Given the description of an element on the screen output the (x, y) to click on. 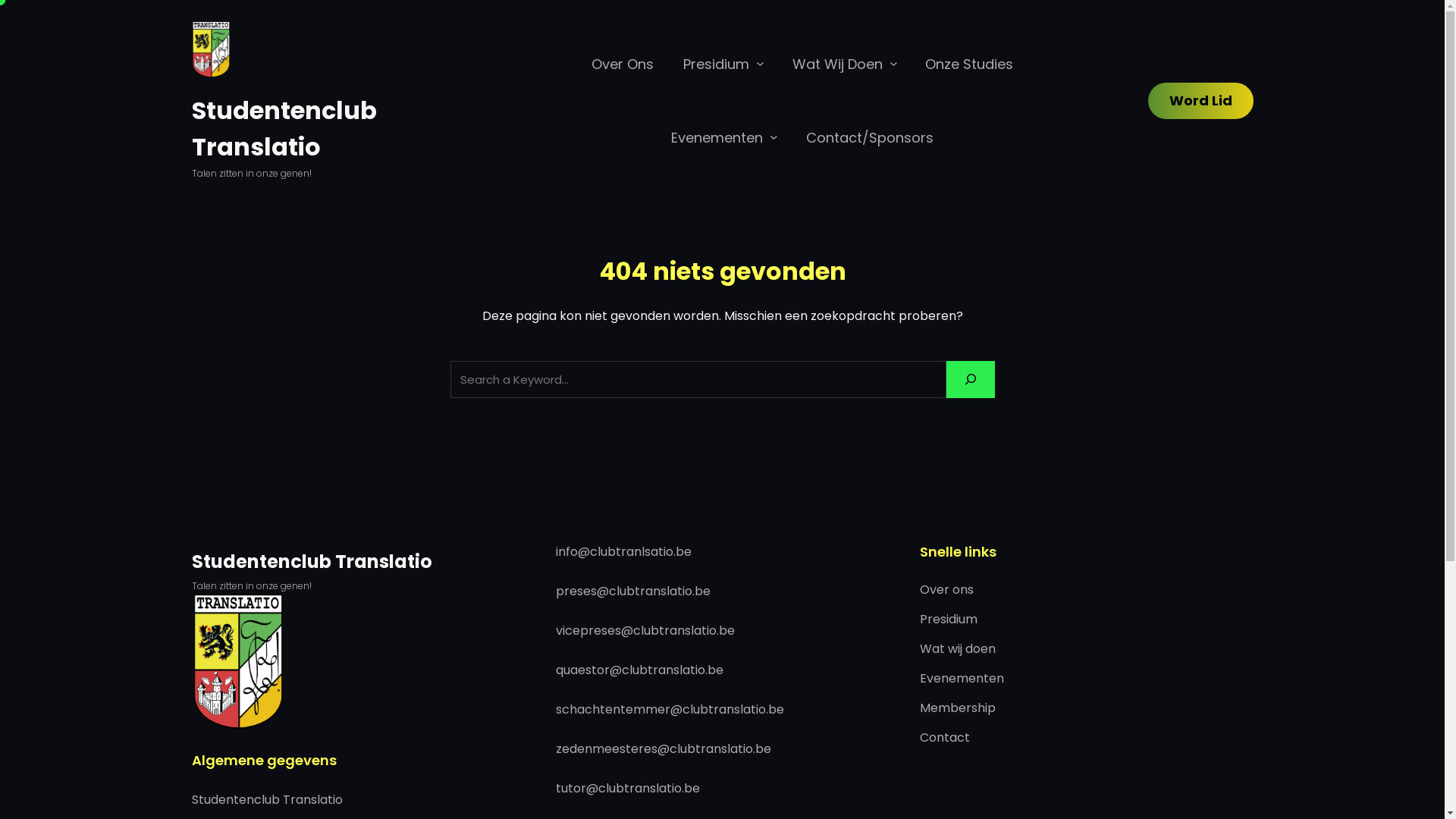
Word Lid Element type: text (1200, 100)
Contact/Sponsors Element type: text (869, 137)
Onze Studies Element type: text (968, 63)
Presidium Element type: text (715, 63)
Wat Wij Doen Element type: text (836, 63)
Over Ons Element type: text (622, 63)
Over ons Element type: text (945, 590)
Studentenclub Translatio Element type: text (311, 561)
Evenementen Element type: text (961, 678)
Presidium Element type: text (947, 619)
Contact Element type: text (944, 738)
Evenementen Element type: text (716, 137)
Studentenclub Translatio Element type: text (283, 128)
Membership Element type: text (956, 708)
Wat wij doen Element type: text (956, 649)
